Given the description of an element on the screen output the (x, y) to click on. 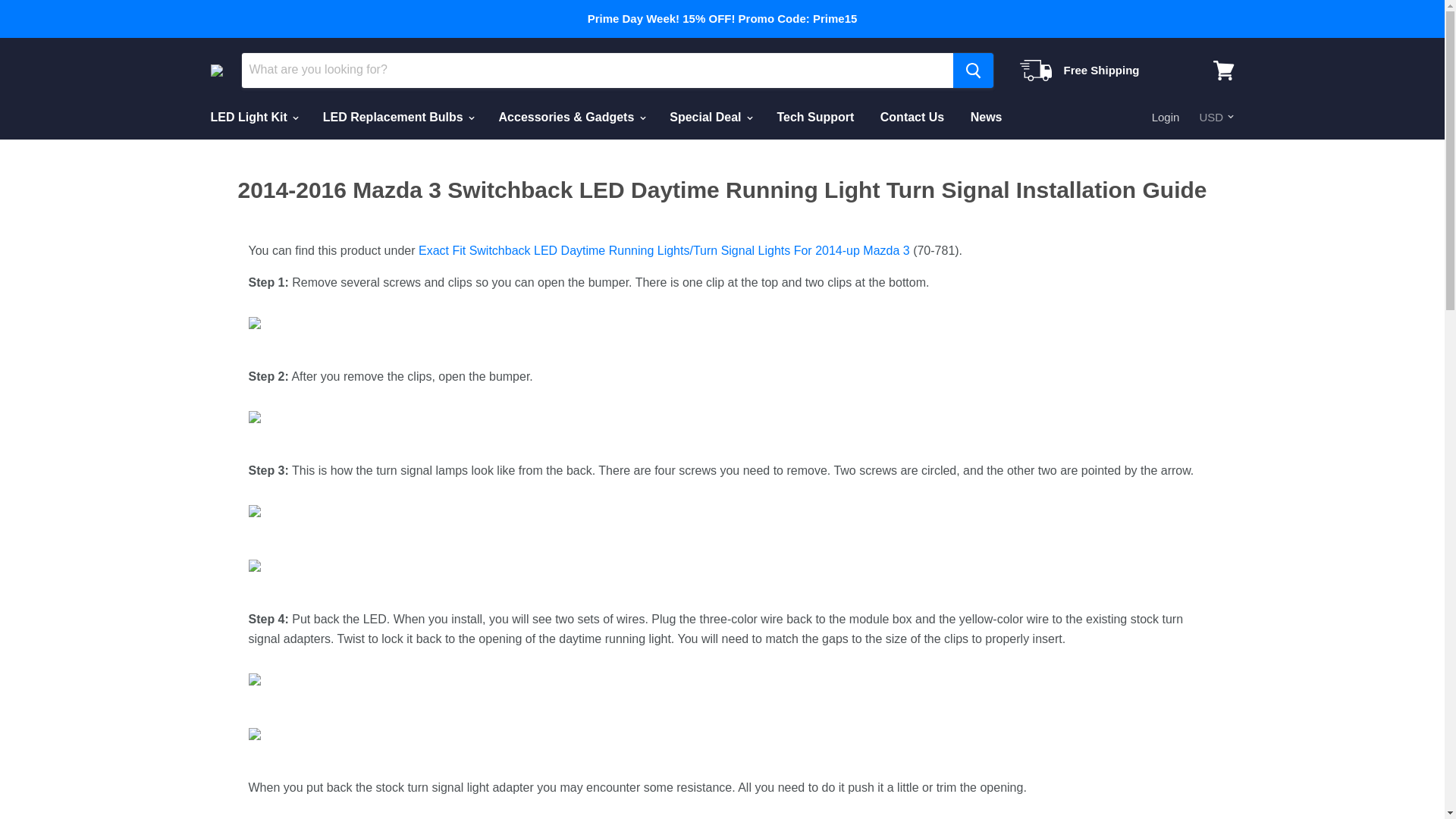
View cart (1223, 70)
LED Replacement Bulbs (397, 117)
LED Light Kit (252, 117)
